Given the description of an element on the screen output the (x, y) to click on. 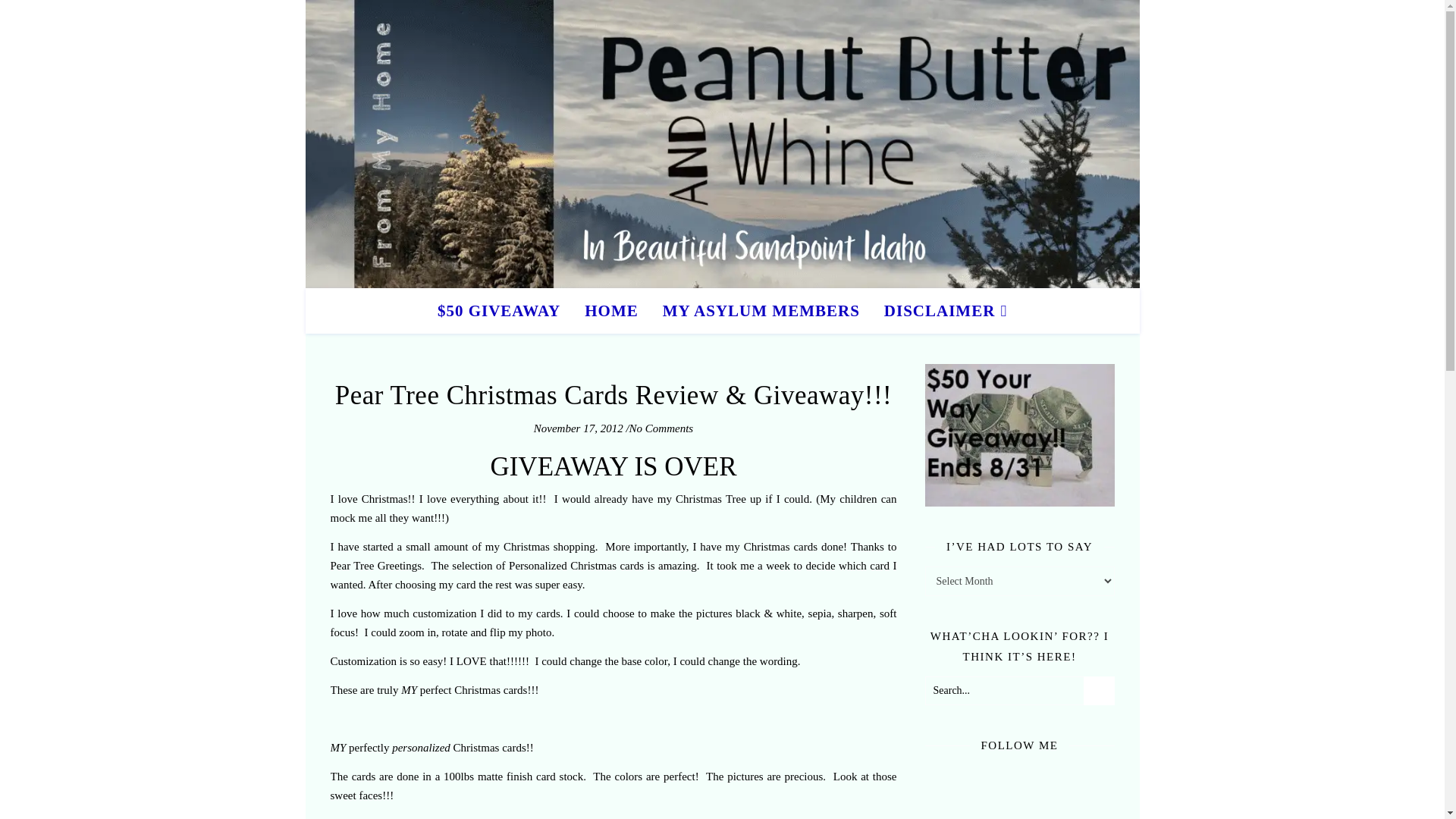
MY ASYLUM MEMBERS (761, 310)
st (1098, 691)
DISCLAIMER (939, 310)
No Comments (661, 428)
HOME (611, 310)
